Given the description of an element on the screen output the (x, y) to click on. 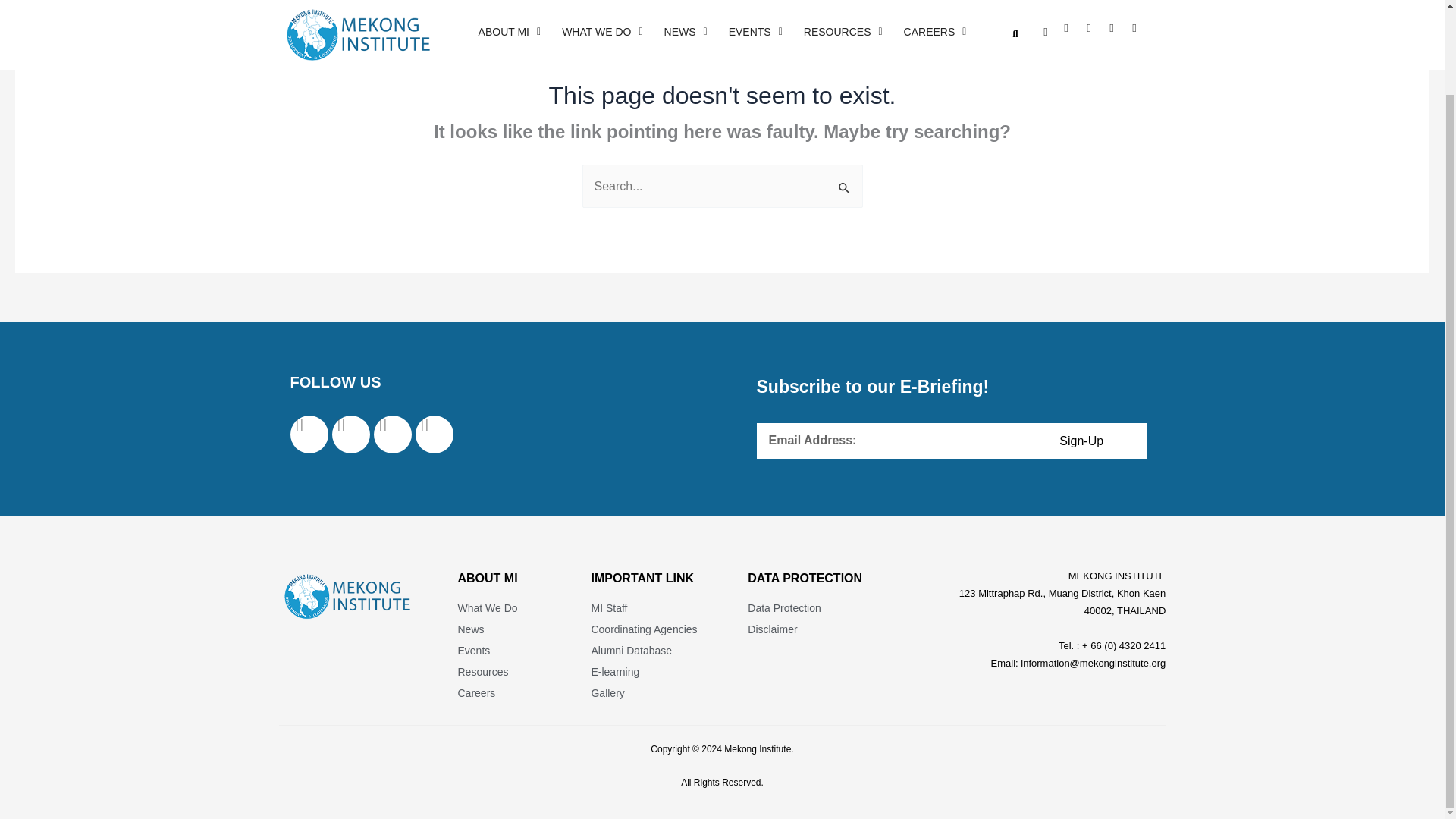
Search (844, 188)
Search (844, 188)
